Given the description of an element on the screen output the (x, y) to click on. 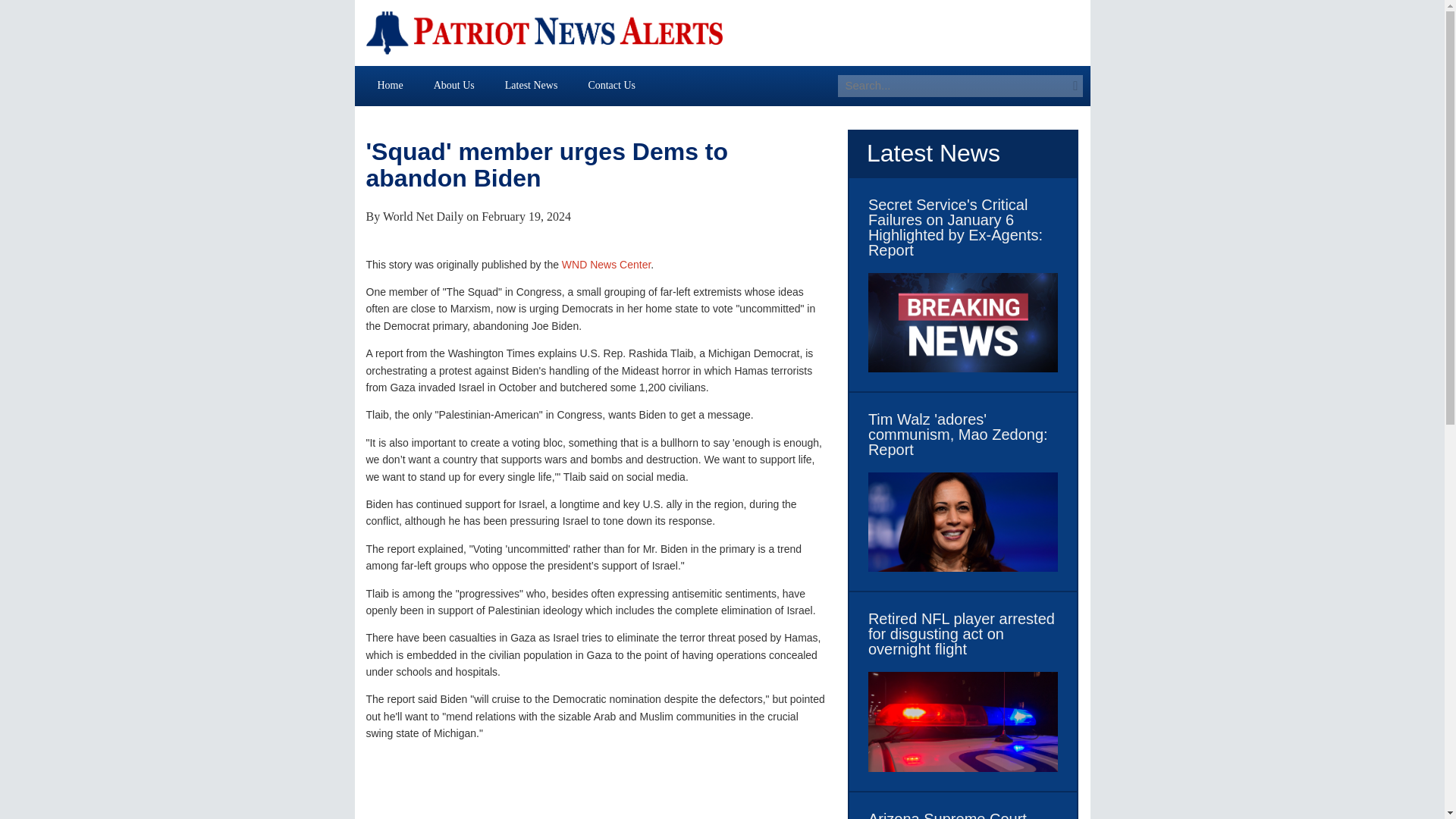
Search for: (952, 86)
Home (390, 85)
Latest News (531, 85)
World Net Daily (422, 215)
WND News Center (606, 264)
Tim Walz 'adores' communism, Mao Zedong: Report (962, 434)
Contact Us (611, 85)
About Us (454, 85)
